Given the description of an element on the screen output the (x, y) to click on. 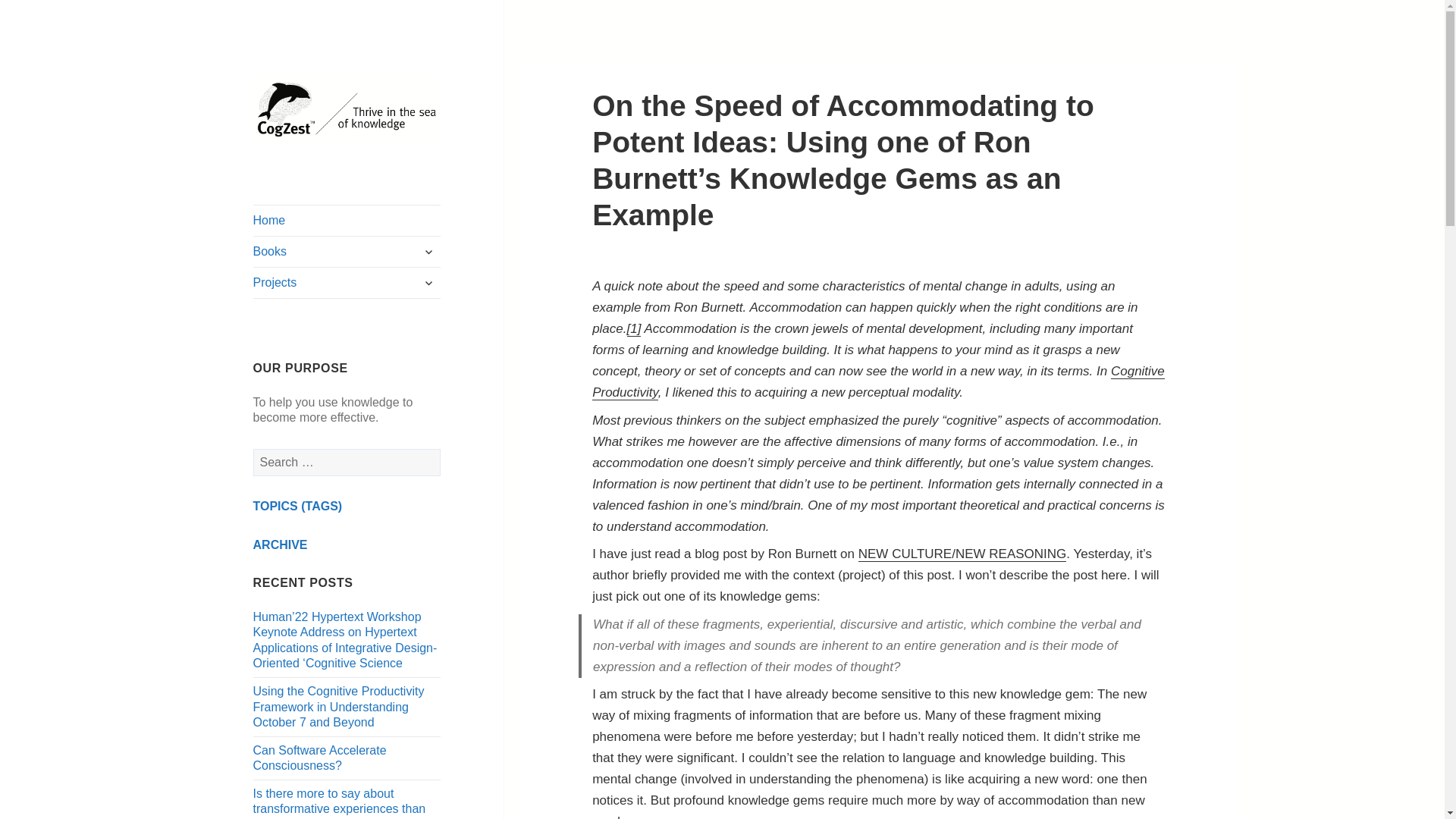
Books (347, 251)
CogZest (347, 109)
Projects (347, 282)
Home (347, 220)
expand child menu (428, 282)
ARCHIVE (280, 545)
expand child menu (428, 251)
